Given the description of an element on the screen output the (x, y) to click on. 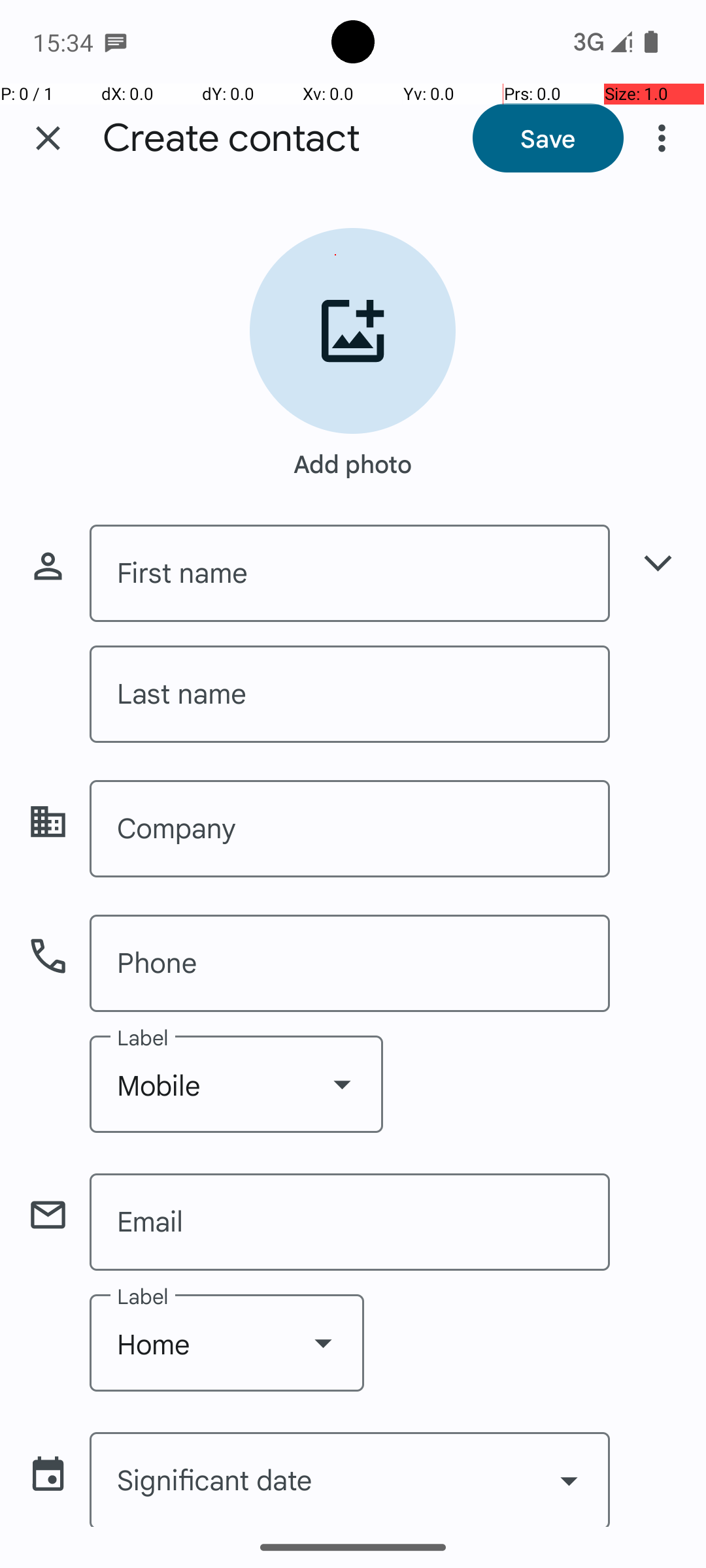
First name Element type: android.widget.EditText (349, 572)
Last name Element type: android.widget.EditText (349, 693)
Mobile Element type: android.widget.Spinner (236, 1083)
Show dropdown menu Element type: android.widget.ImageButton (341, 1083)
Email Element type: android.widget.EditText (349, 1221)
Significant date Element type: android.widget.EditText (349, 1479)
Show date picker Element type: android.widget.ImageButton (568, 1480)
Add contact photo Element type: android.widget.ImageView (352, 330)
Add photo Element type: android.widget.TextView (352, 456)
Show more name fields Element type: android.widget.ImageView (657, 562)
